Given the description of an element on the screen output the (x, y) to click on. 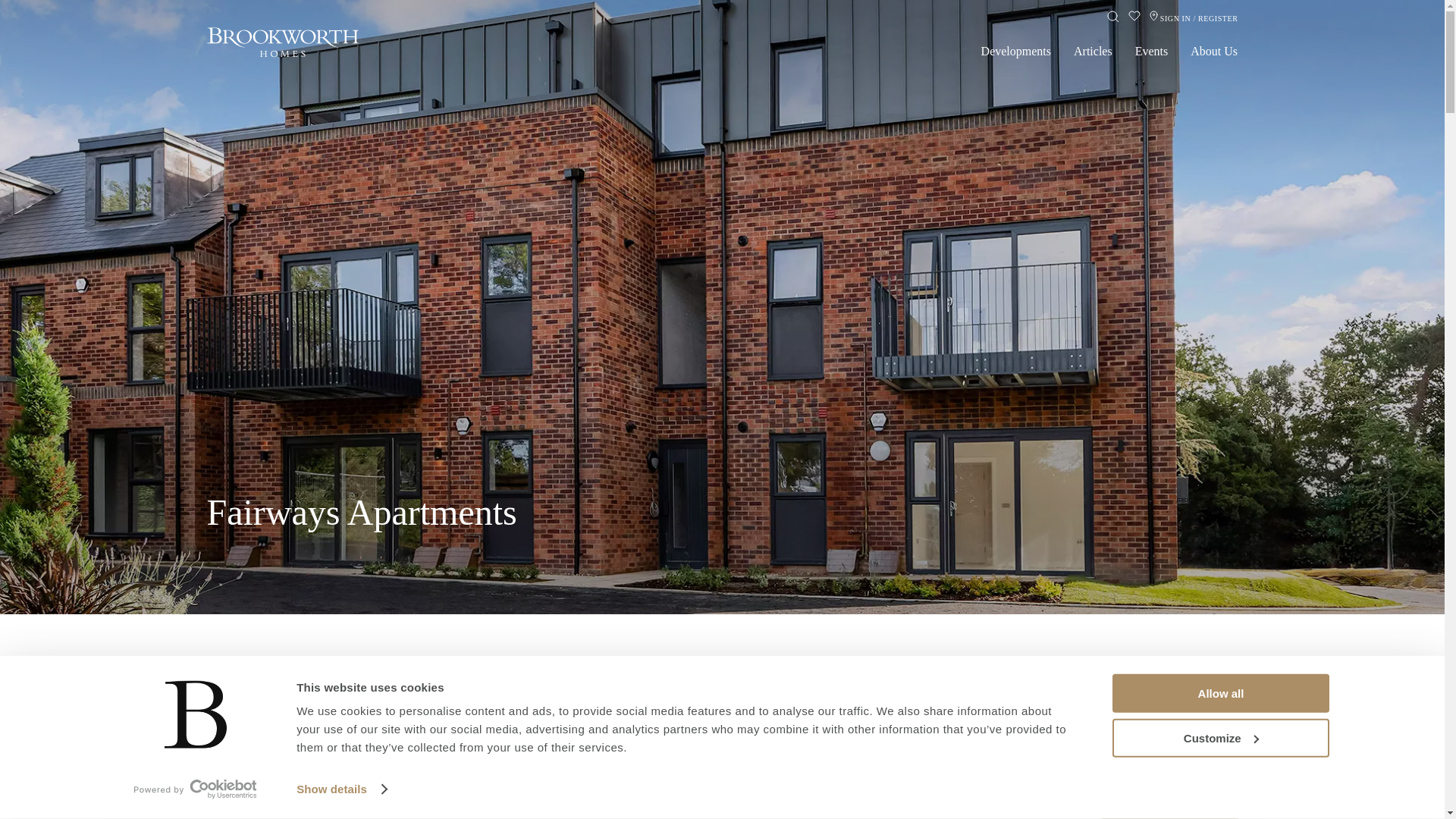
Customize (372, 803)
Allow all (1219, 737)
Show details (1219, 693)
